Given the description of an element on the screen output the (x, y) to click on. 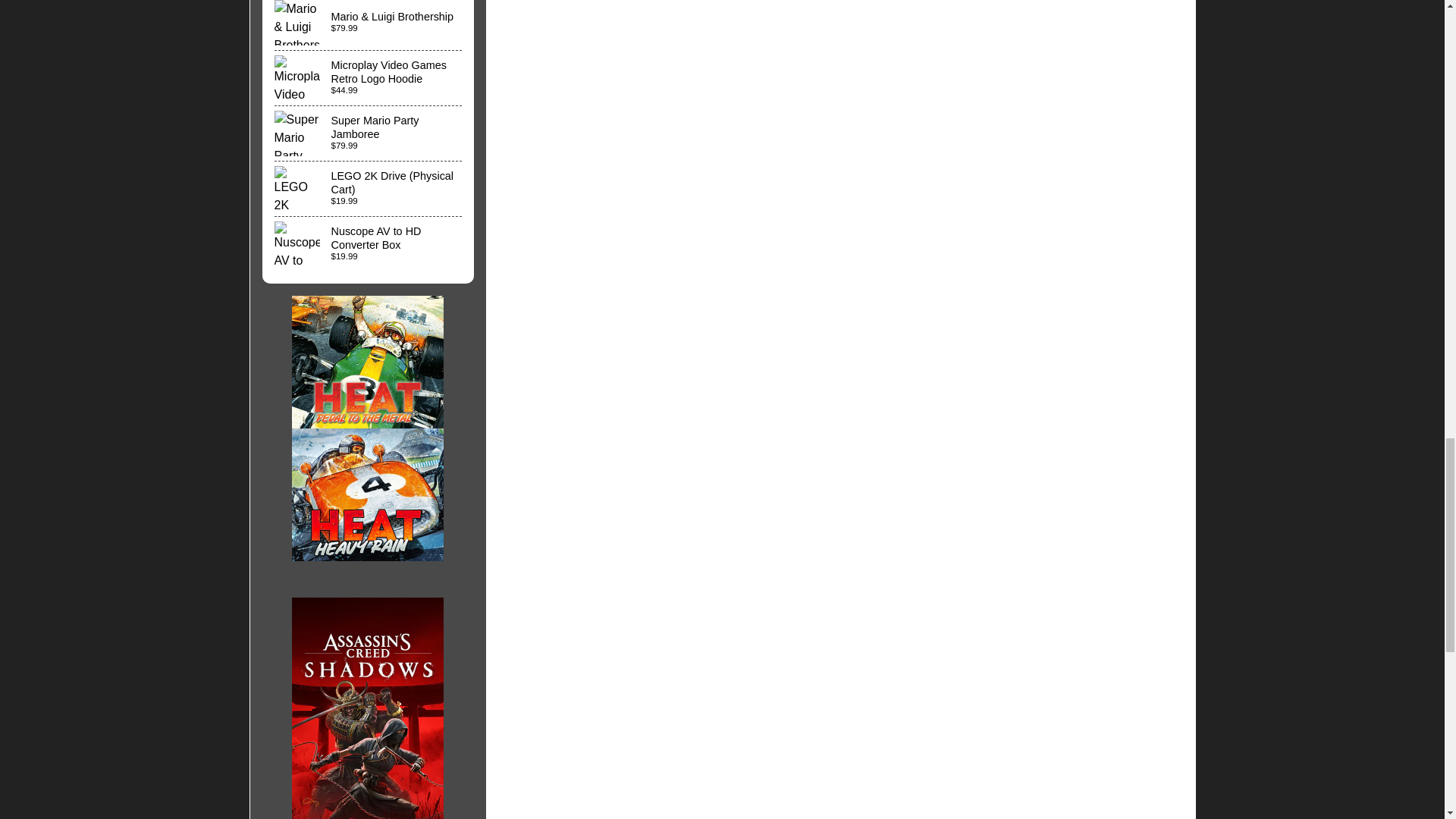
Microplay Video Games Retro Logo Hoodie (369, 77)
